Given the description of an element on the screen output the (x, y) to click on. 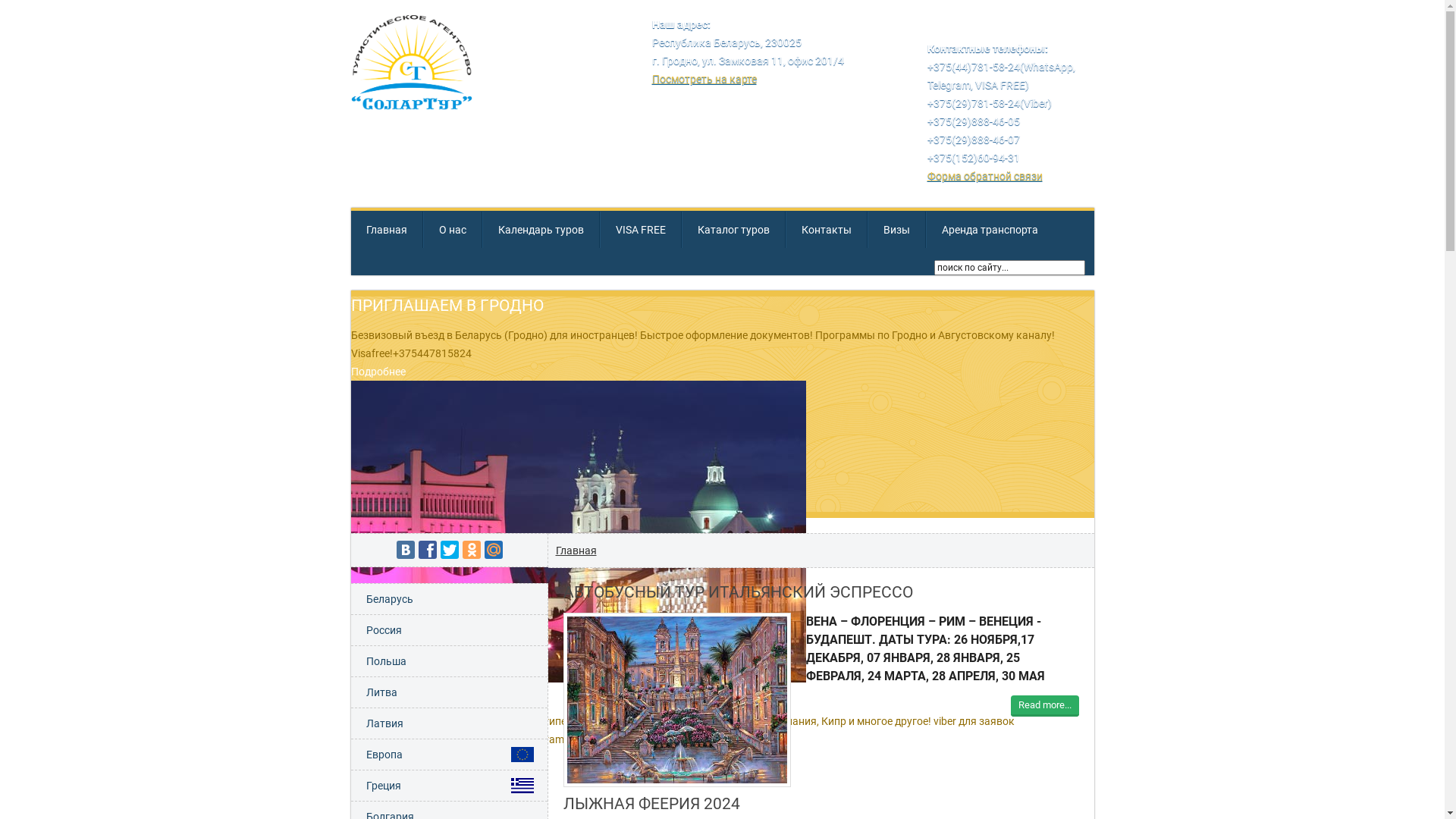
Twitter Element type: hover (448, 549)
Read more... Element type: text (1044, 705)
Facebook Element type: hover (427, 549)
VISA FREE Element type: text (639, 229)
